Given the description of an element on the screen output the (x, y) to click on. 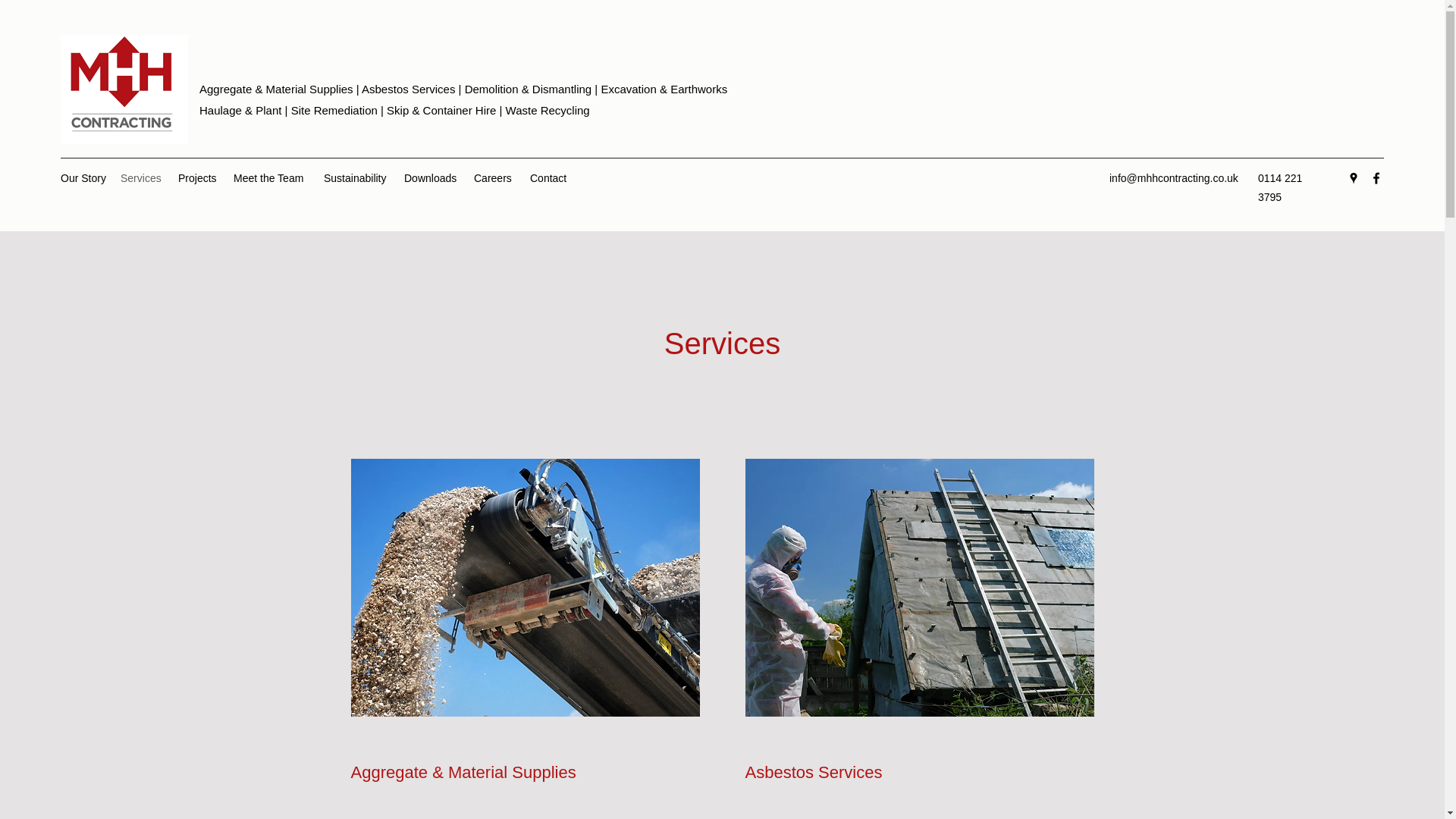
Contact (550, 178)
Careers (493, 178)
Projects (197, 178)
Sustainability (355, 178)
Services (141, 178)
Downloads (430, 178)
Meet the Team (270, 178)
Our Story (82, 178)
